Given the description of an element on the screen output the (x, y) to click on. 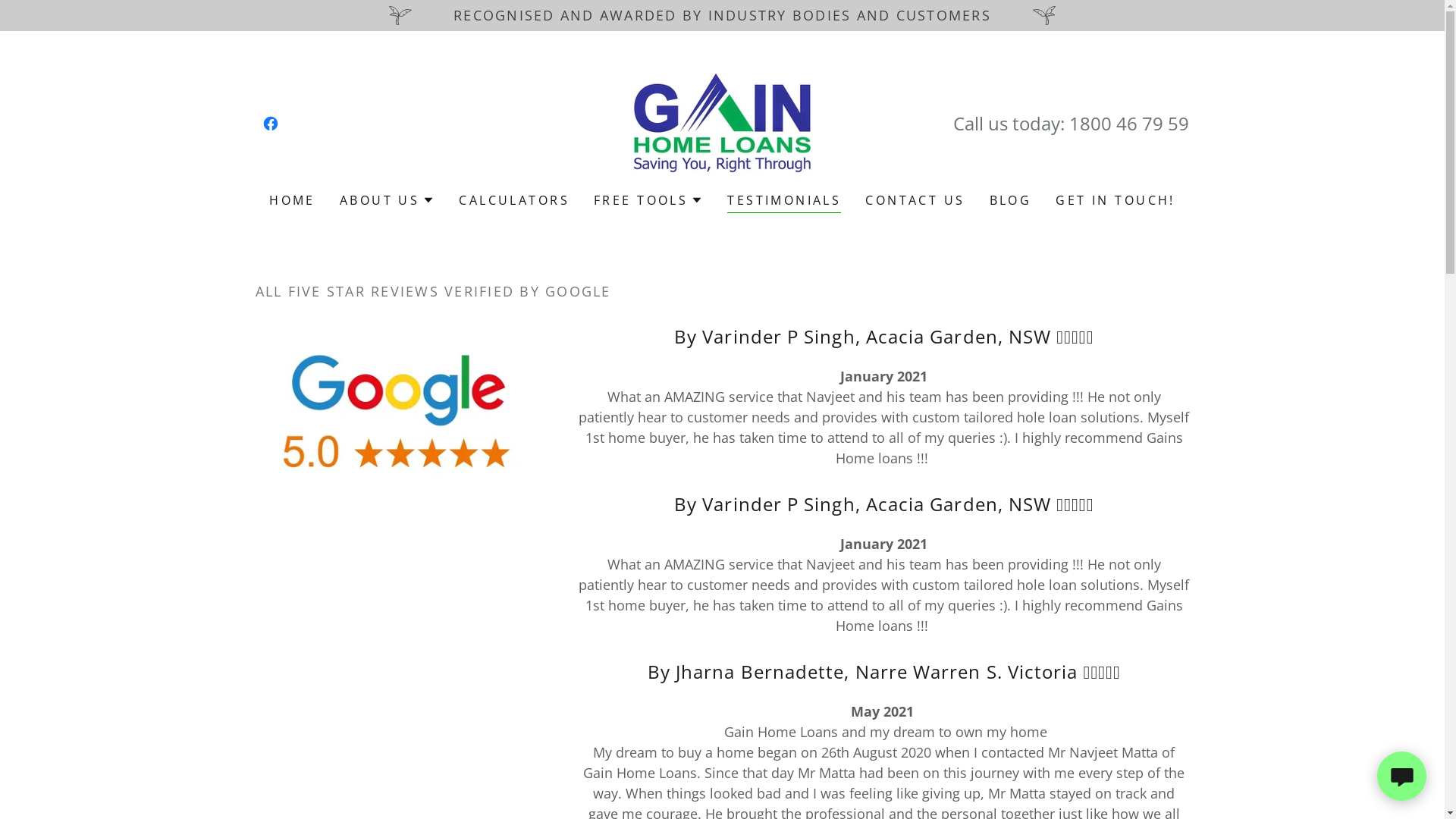
BLOG Element type: text (1010, 199)
RECOGNISED AND AWARDED BY INDUSTRY BODIES AND CUSTOMERS Element type: text (722, 15)
1800 46 79 59 Element type: text (1129, 122)
CALCULATORS Element type: text (514, 199)
ABOUT US Element type: text (386, 200)
CONTACT US Element type: text (914, 199)
GET IN TOUCH! Element type: text (1115, 199)
HOME Element type: text (292, 199)
Gain Home Loans Element type: hover (721, 121)
FREE TOOLS Element type: text (647, 200)
TESTIMONIALS Element type: text (783, 202)
